Given the description of an element on the screen output the (x, y) to click on. 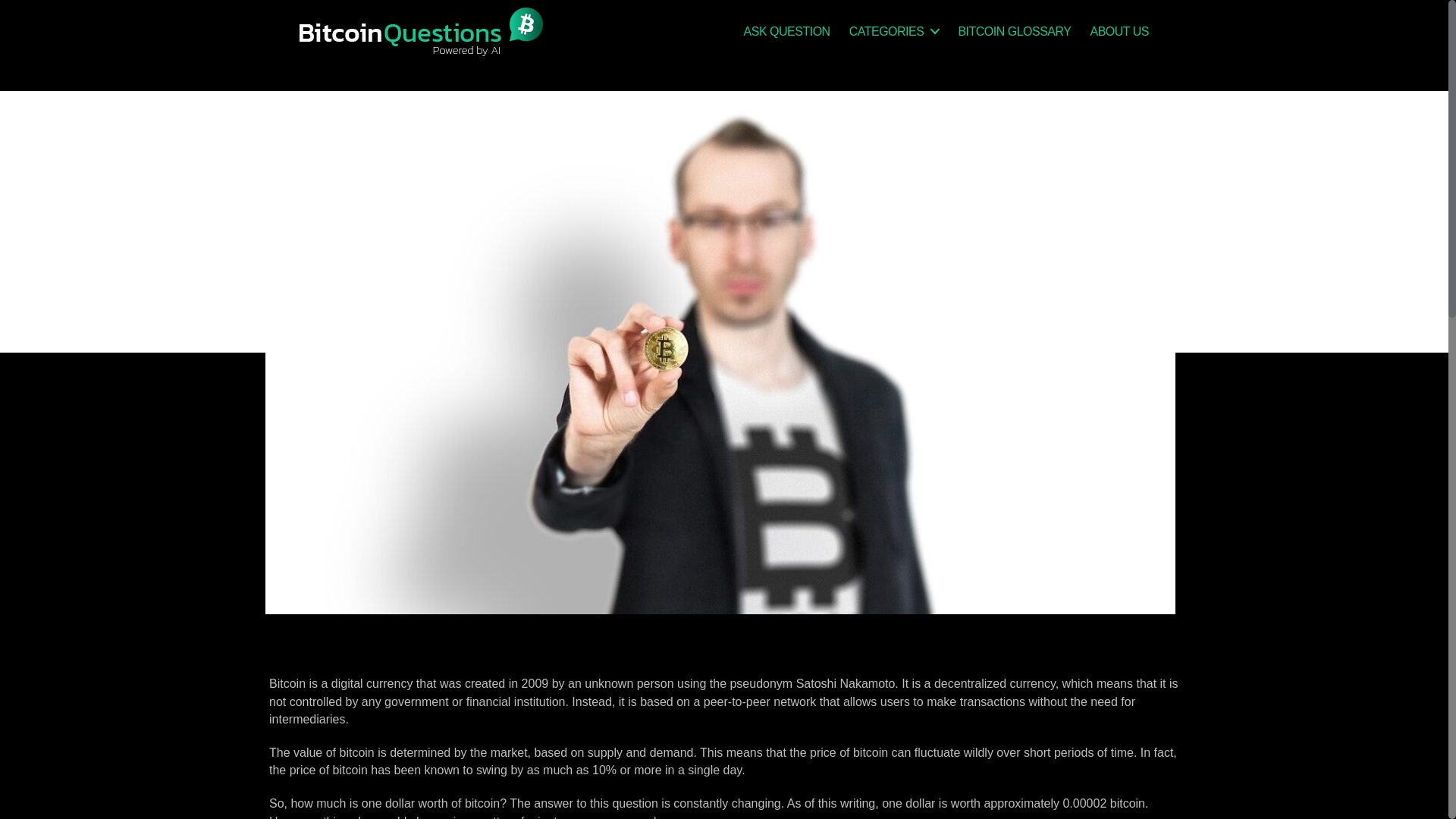
ABOUT US (1118, 31)
ASK QUESTION (786, 31)
BITCOIN GLOSSARY (1014, 31)
CATEGORIES (893, 31)
